Given the description of an element on the screen output the (x, y) to click on. 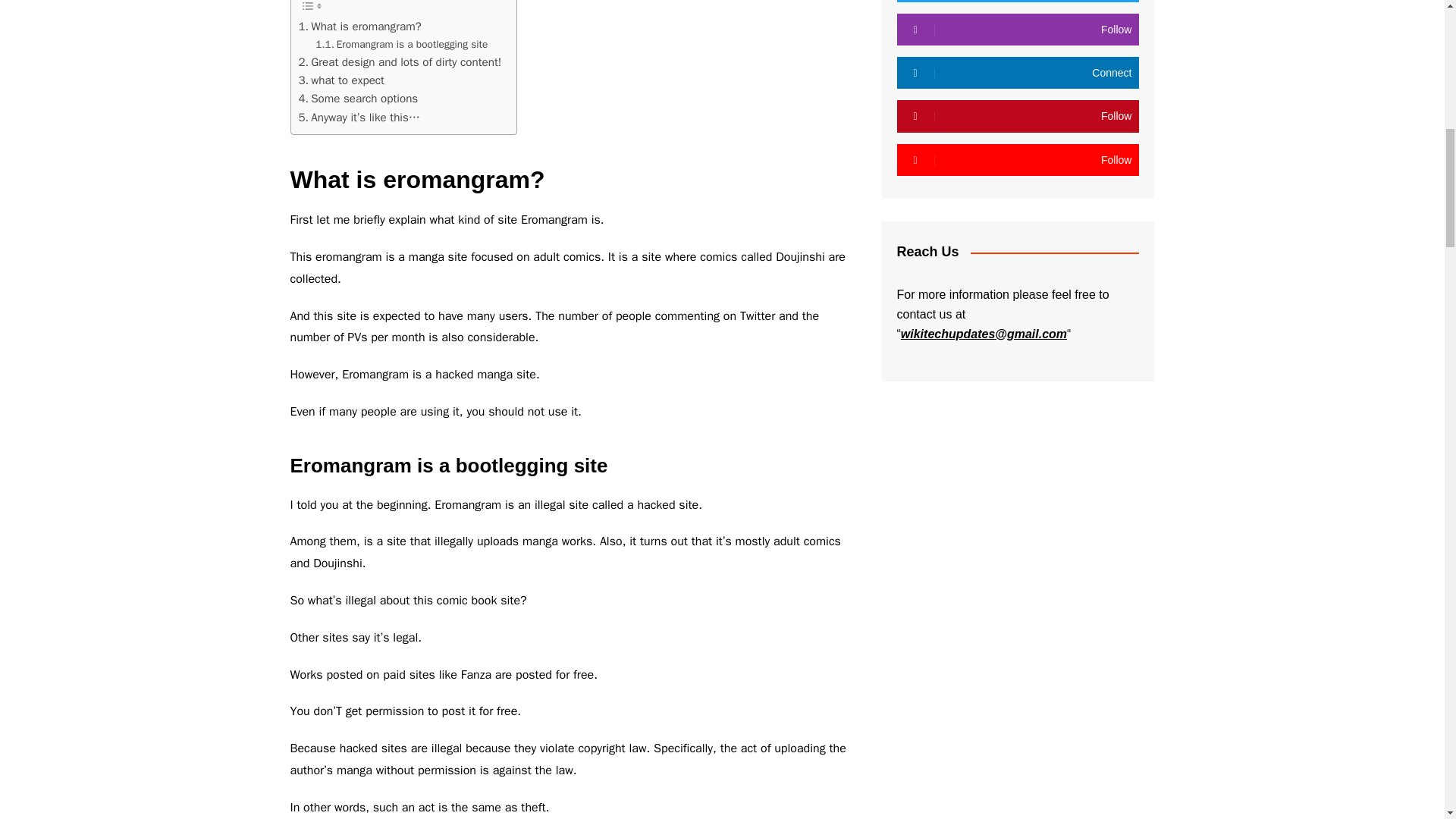
Great design and lots of dirty content! (400, 62)
Some search options (358, 98)
what to expect (341, 80)
What is eromangram? (360, 26)
what to expect (341, 80)
Eromangram is a bootlegging site (401, 44)
Great design and lots of dirty content! (400, 62)
Eromangram is a bootlegging site (401, 44)
What is eromangram? (360, 26)
Some search options (358, 98)
